Given the description of an element on the screen output the (x, y) to click on. 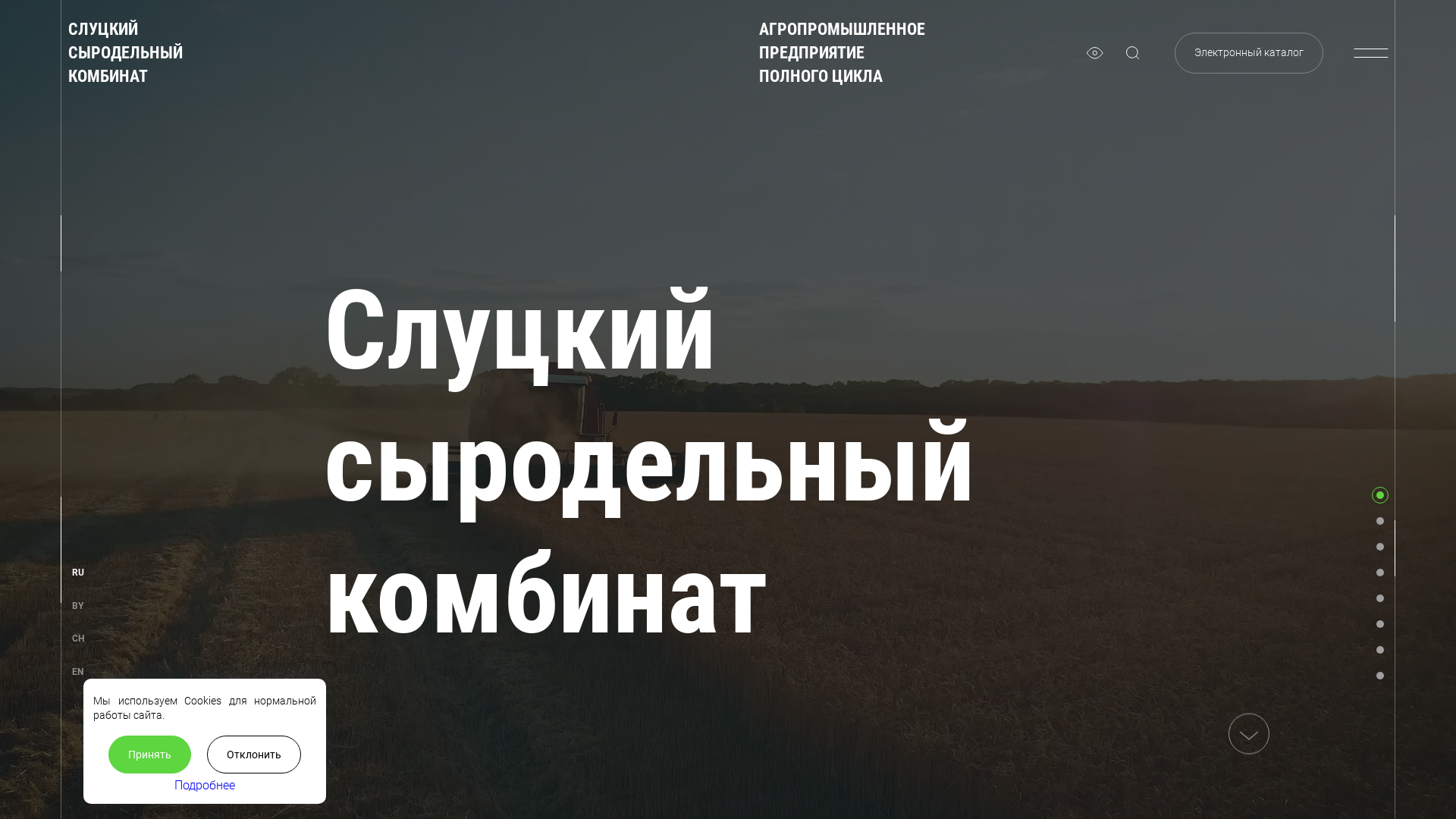
BY Element type: text (77, 605)
EN Element type: text (77, 671)
RU Element type: text (78, 572)
CH Element type: text (78, 638)
